Given the description of an element on the screen output the (x, y) to click on. 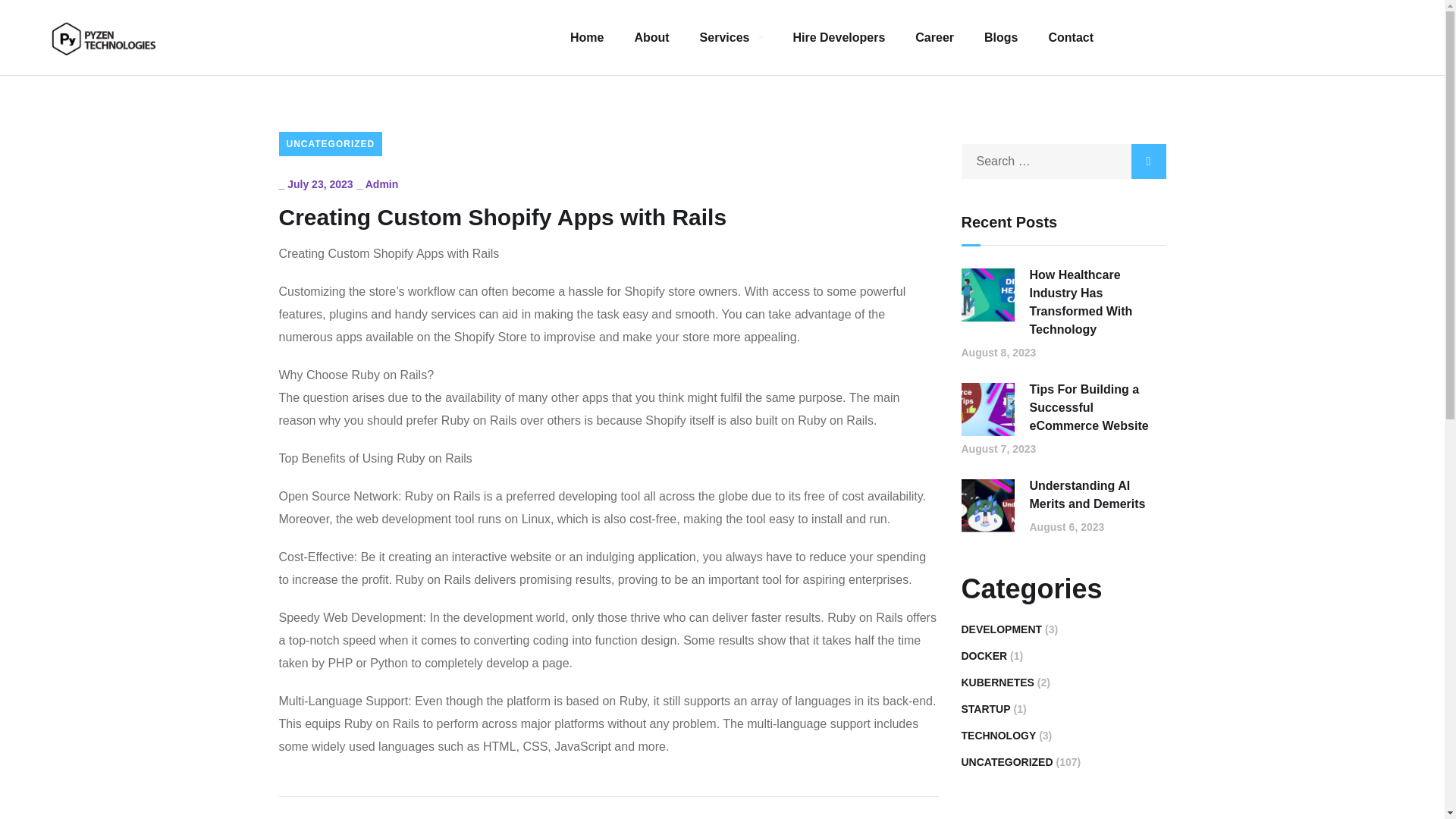
How healthcare industry has transformed with technology 1 (987, 294)
Contact (1070, 37)
Home (587, 37)
Tips for building a successful ecommerce website 2 (987, 409)
Services (731, 37)
Hire Developers (838, 37)
About (650, 37)
Blogs (1000, 37)
Career (934, 37)
Understanding ai merits and demerits 3 (987, 505)
